Given the description of an element on the screen output the (x, y) to click on. 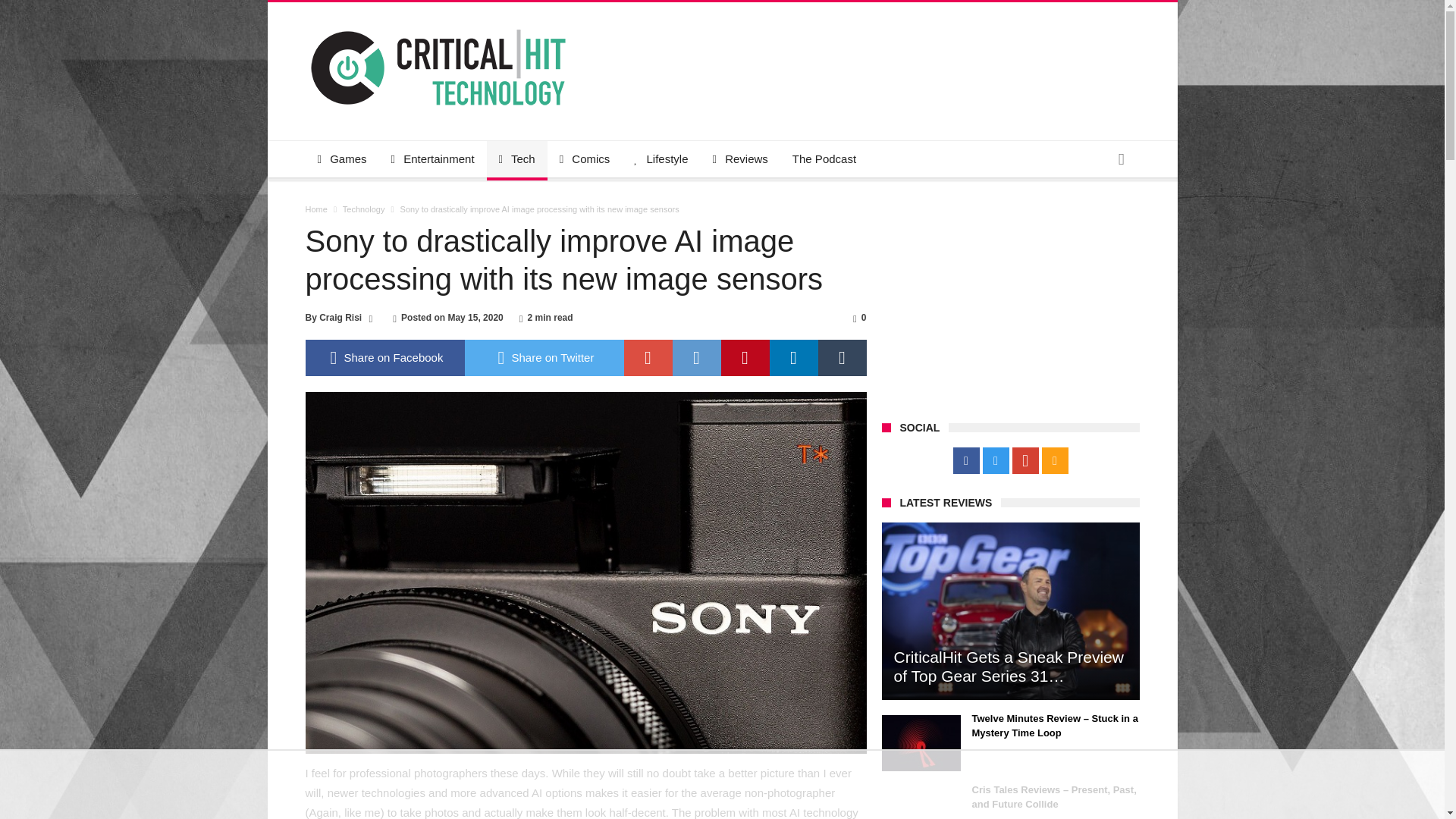
Tech (516, 158)
Home (315, 208)
google (647, 357)
Share on Tumblr (841, 357)
The Podcast (823, 158)
Games (341, 158)
linkedin (792, 357)
tumblr (841, 357)
Share on Reddit (695, 357)
Comics (585, 158)
Lifestyle (660, 158)
Share on Twitter (543, 357)
Technology (363, 208)
reddit (695, 357)
Critical Hit (437, 24)
